Given the description of an element on the screen output the (x, y) to click on. 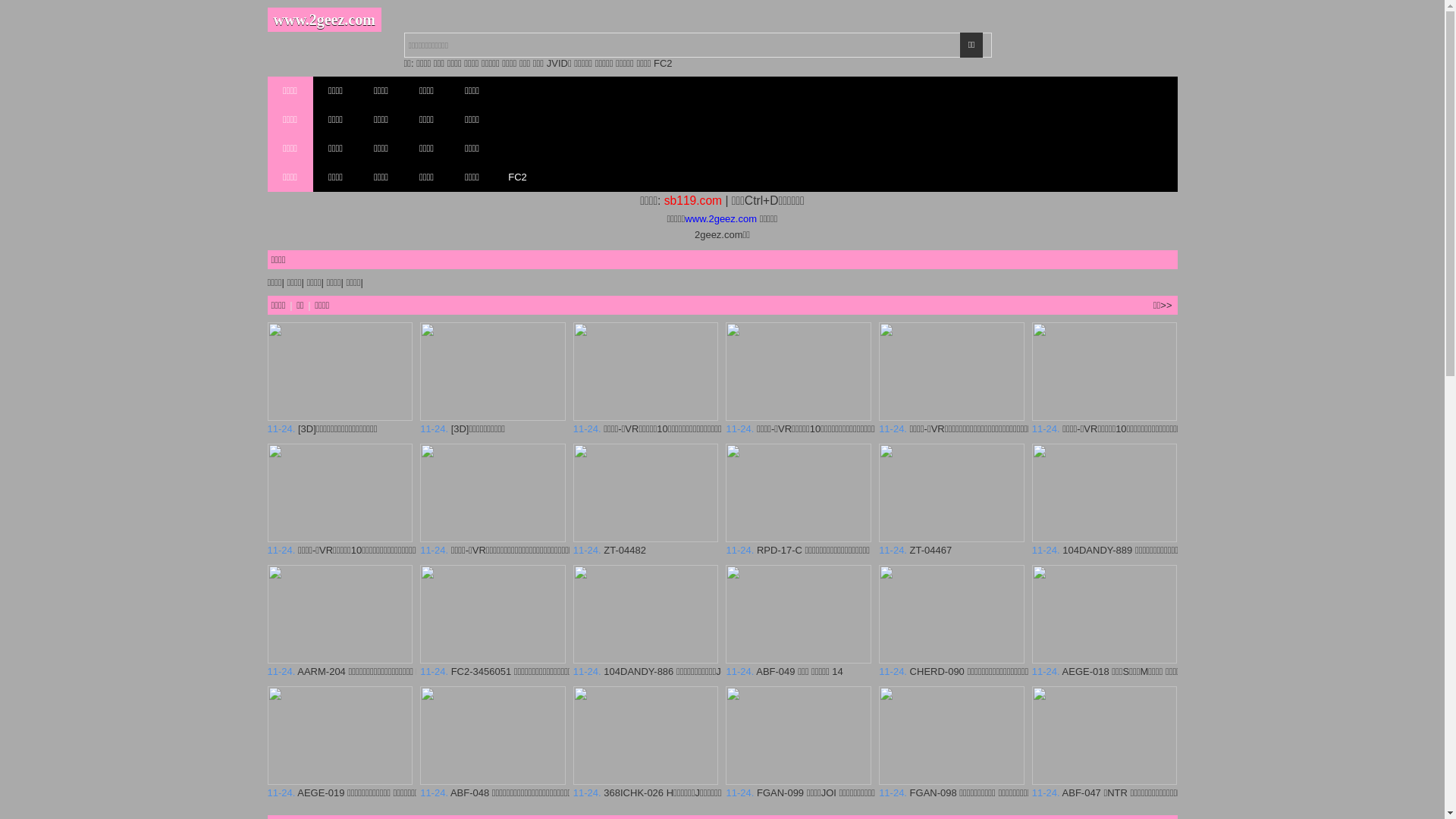
www.2geez.com Element type: text (323, 19)
11-24. ZT-04467 Element type: text (951, 544)
11-24. ZT-04482 Element type: text (645, 544)
JVID Element type: text (556, 63)
FC2 Element type: text (516, 177)
FC2 Element type: text (662, 63)
